Given the description of an element on the screen output the (x, y) to click on. 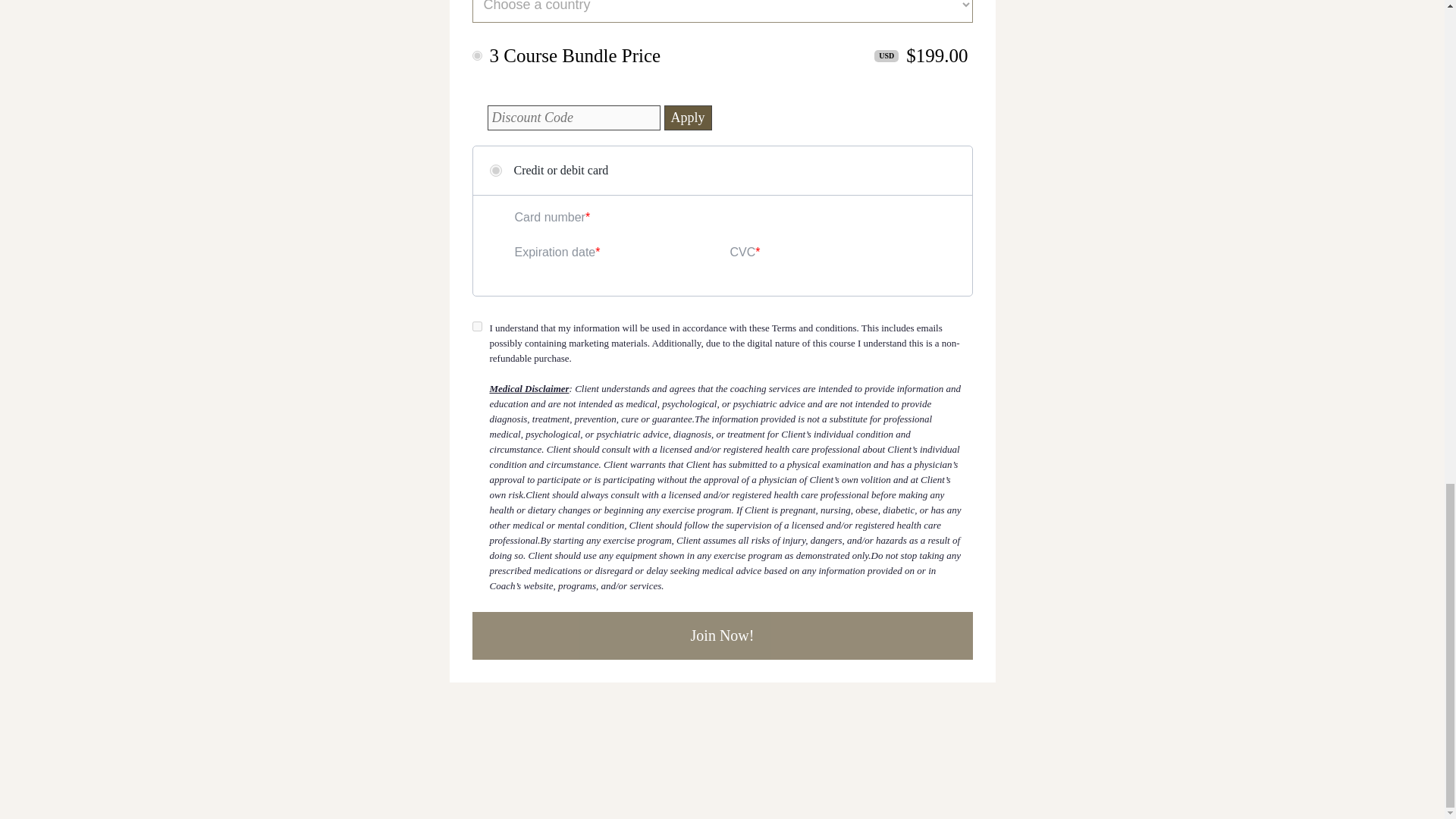
Join Now! (721, 635)
on (495, 170)
on (476, 55)
Apply (687, 117)
Terms and conditions (814, 327)
on (476, 326)
